Given the description of an element on the screen output the (x, y) to click on. 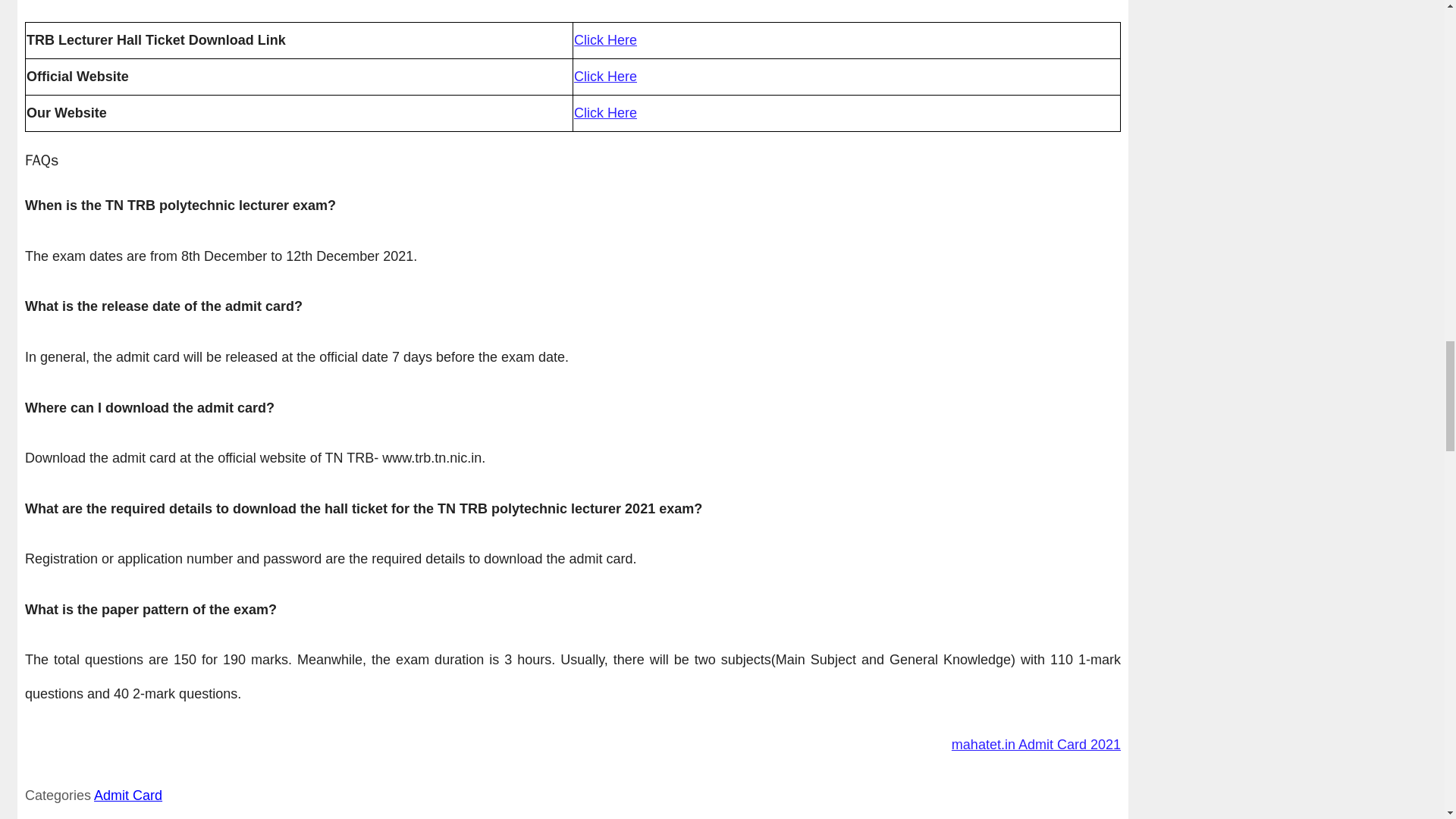
Admit Card (127, 795)
mahatet.in Admit Card 2021 (1036, 744)
Click Here (605, 39)
Click Here (605, 76)
Click Here (605, 112)
